Given the description of an element on the screen output the (x, y) to click on. 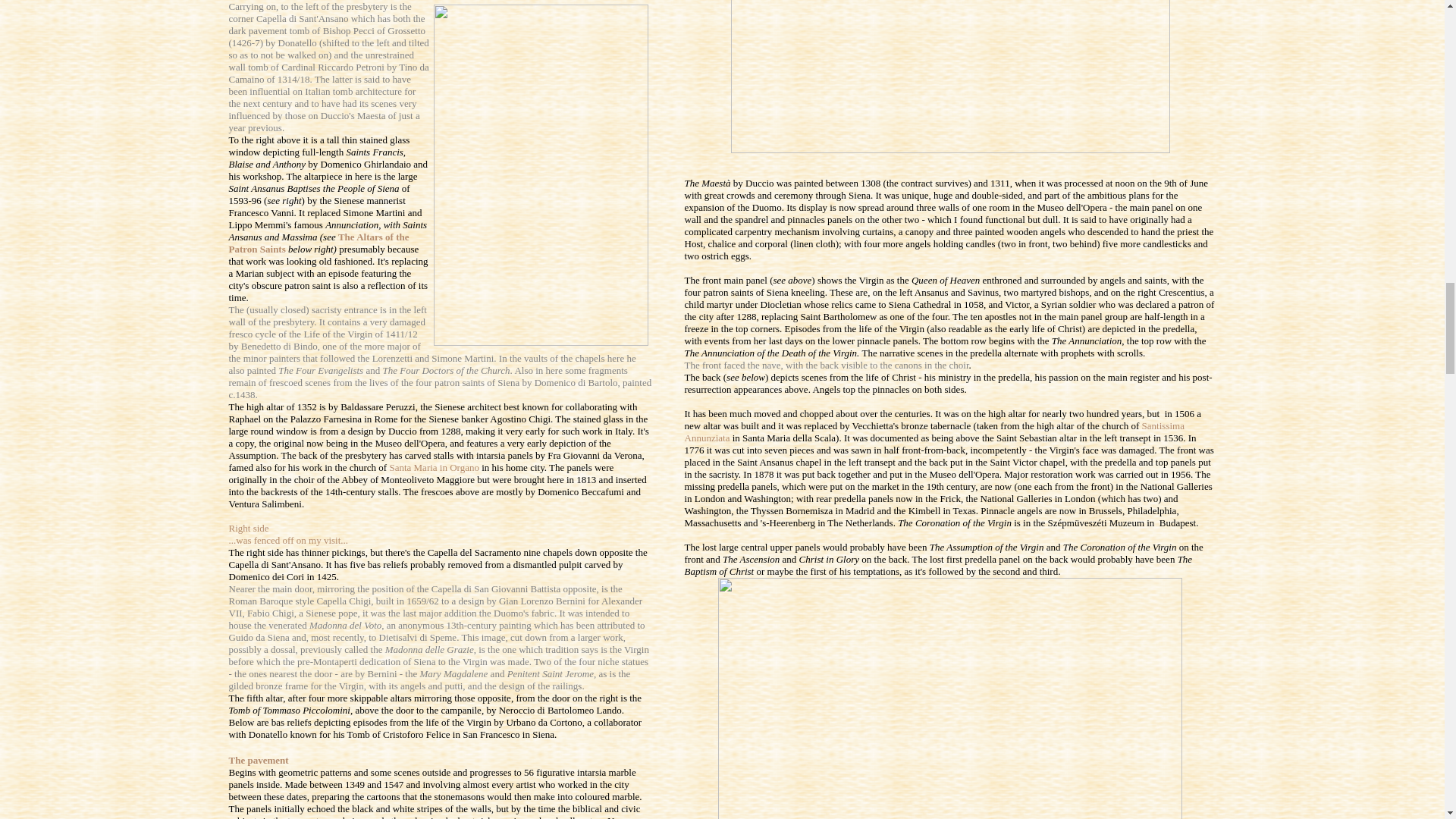
Santissima Annunziata (933, 431)
Santa Maria in Organo (433, 467)
